Given the description of an element on the screen output the (x, y) to click on. 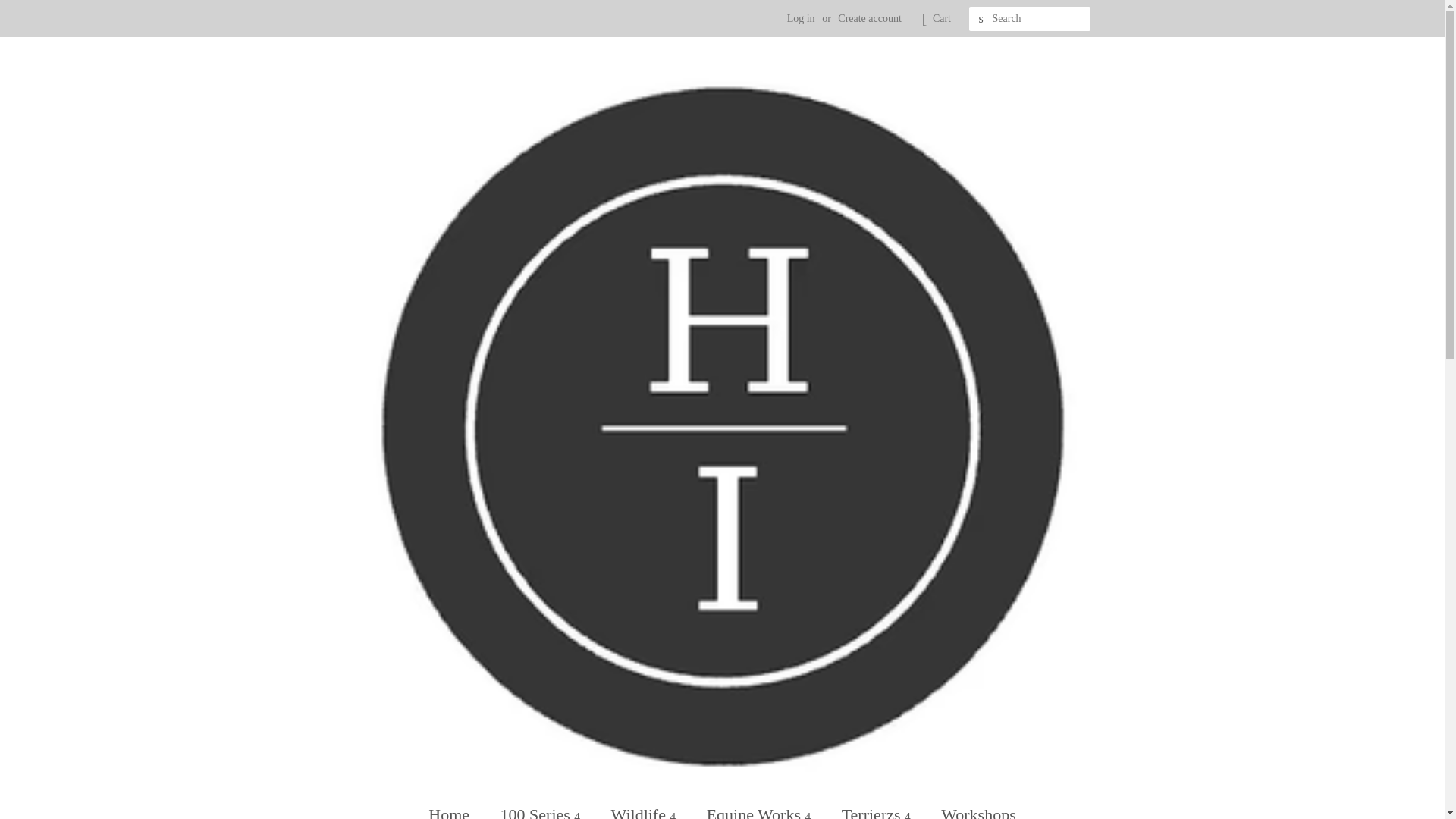
Search (980, 18)
Home (456, 807)
Cart (941, 18)
Create account (869, 18)
Wildlife (645, 807)
Log in (801, 18)
100 Series (542, 807)
